Given the description of an element on the screen output the (x, y) to click on. 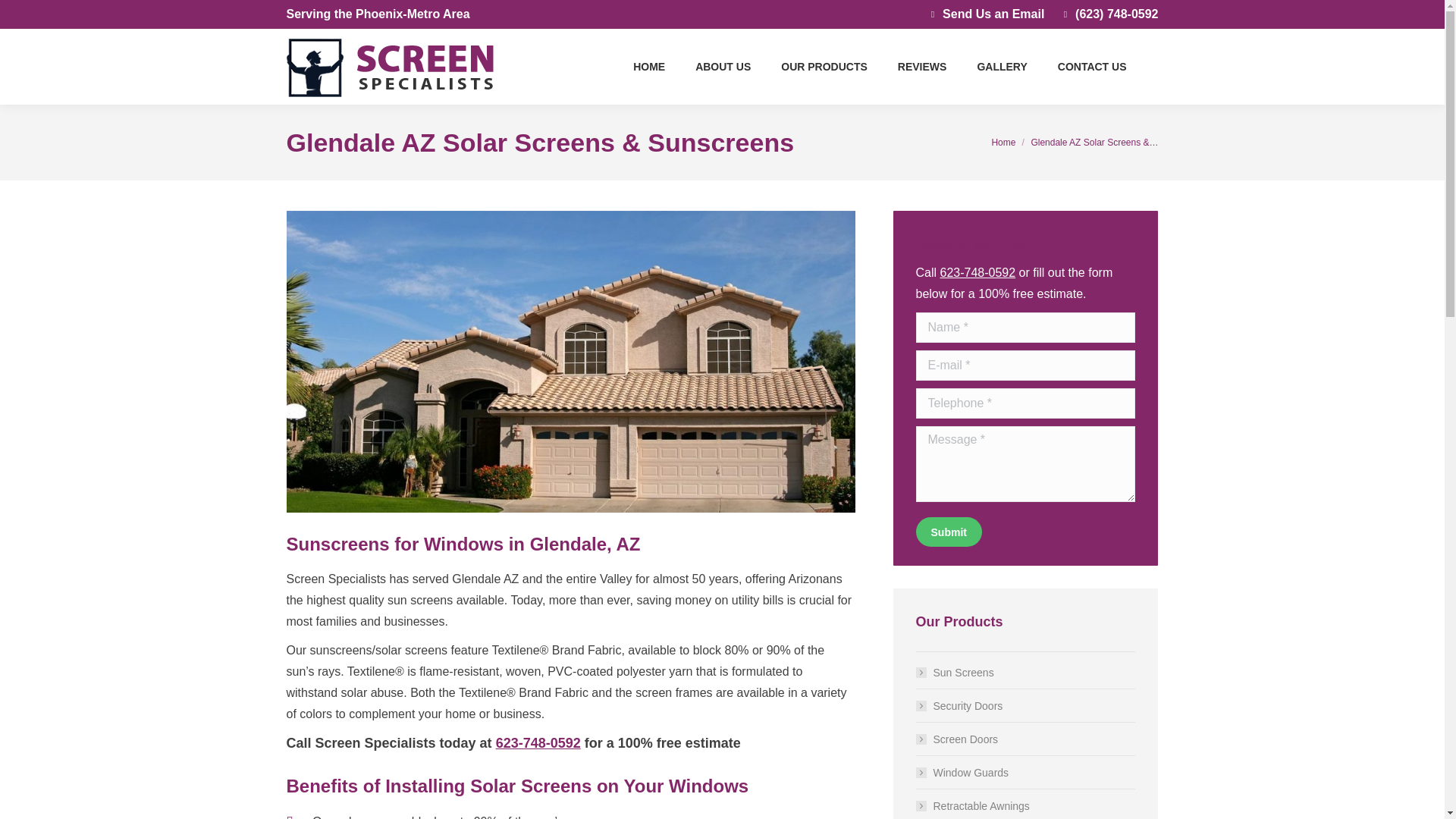
OUR PRODUCTS (824, 66)
Send Us an Email (984, 13)
Home (1002, 142)
HOME (649, 66)
Home (1002, 142)
GALLERY (1001, 66)
REVIEWS (922, 66)
623-748-0592 (538, 743)
Submit (948, 531)
CONTACT US (1092, 66)
ABOUT US (722, 66)
